Given the description of an element on the screen output the (x, y) to click on. 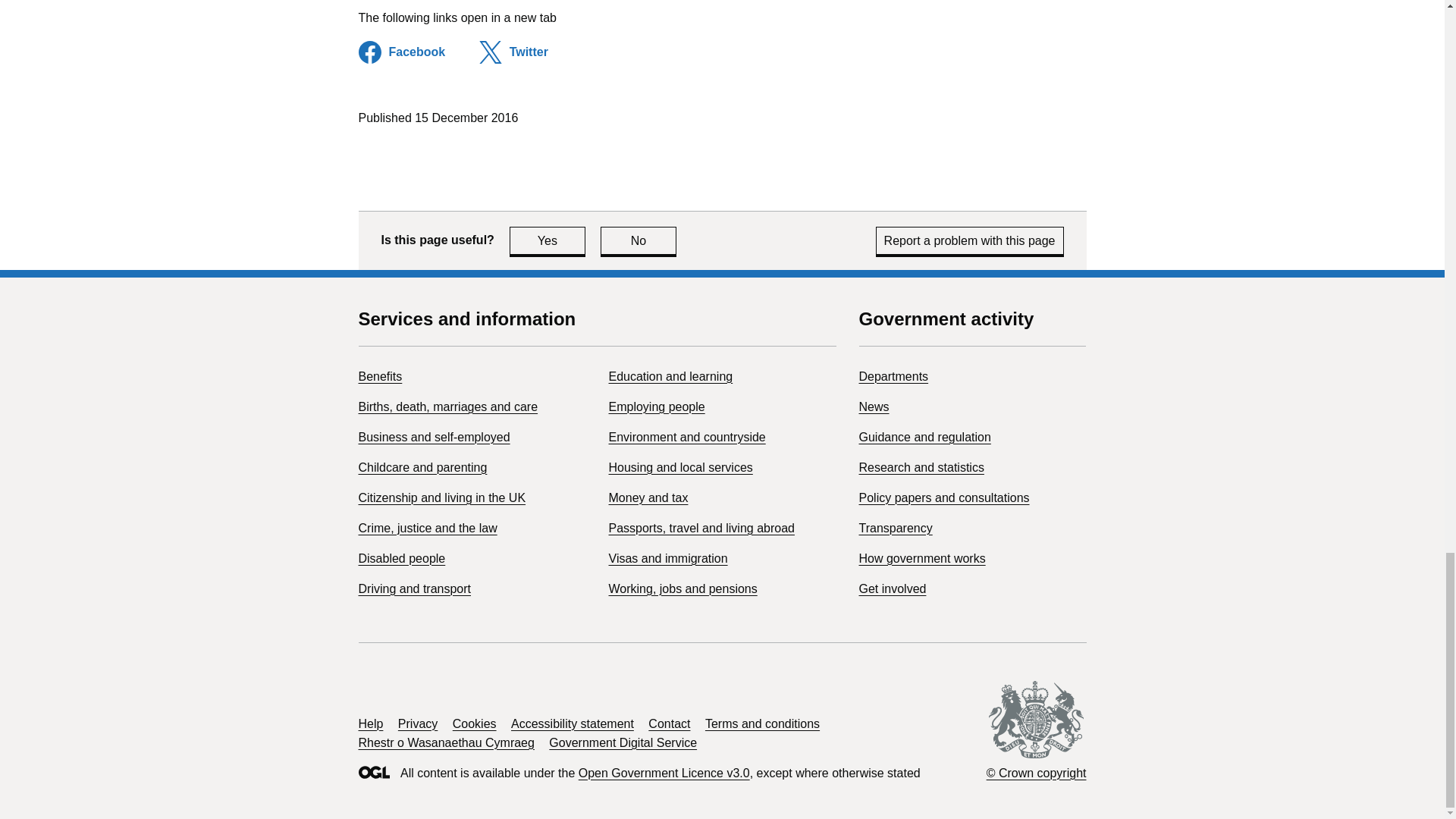
Benefits (379, 376)
Departments (893, 376)
Passports, travel and living abroad (700, 527)
Disabled people (401, 558)
Education and learning (670, 376)
News (638, 240)
Guidance and regulation (873, 406)
Visas and immigration (924, 436)
Driving and transport (667, 558)
Money and tax (414, 588)
Employing people (647, 497)
Policy papers and consultations (656, 406)
Business and self-employed (944, 497)
Environment and countryside (433, 436)
